Given the description of an element on the screen output the (x, y) to click on. 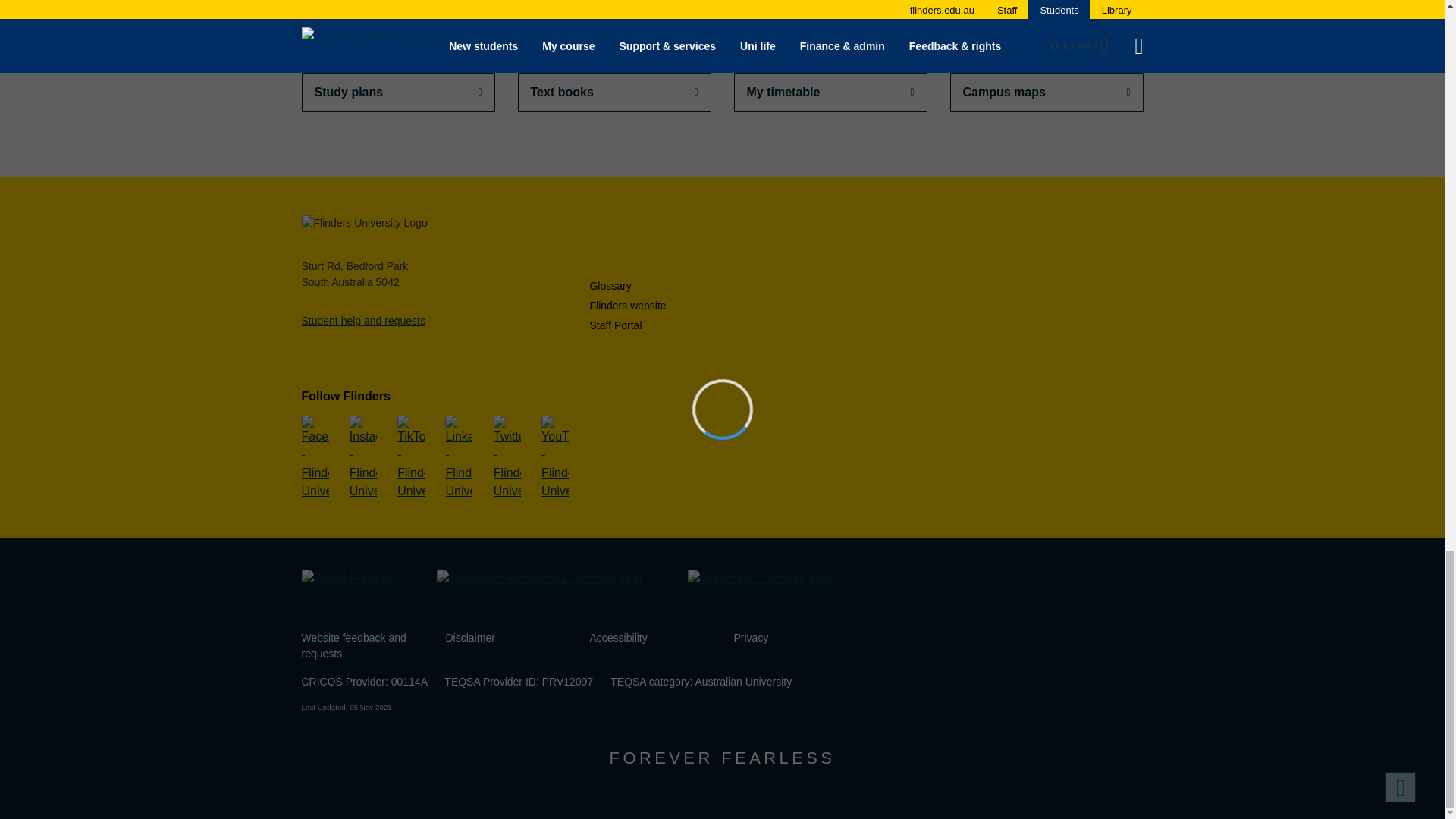
Accessibility (618, 637)
Copyright and disclaimer (470, 637)
Privacy (750, 637)
